Given the description of an element on the screen output the (x, y) to click on. 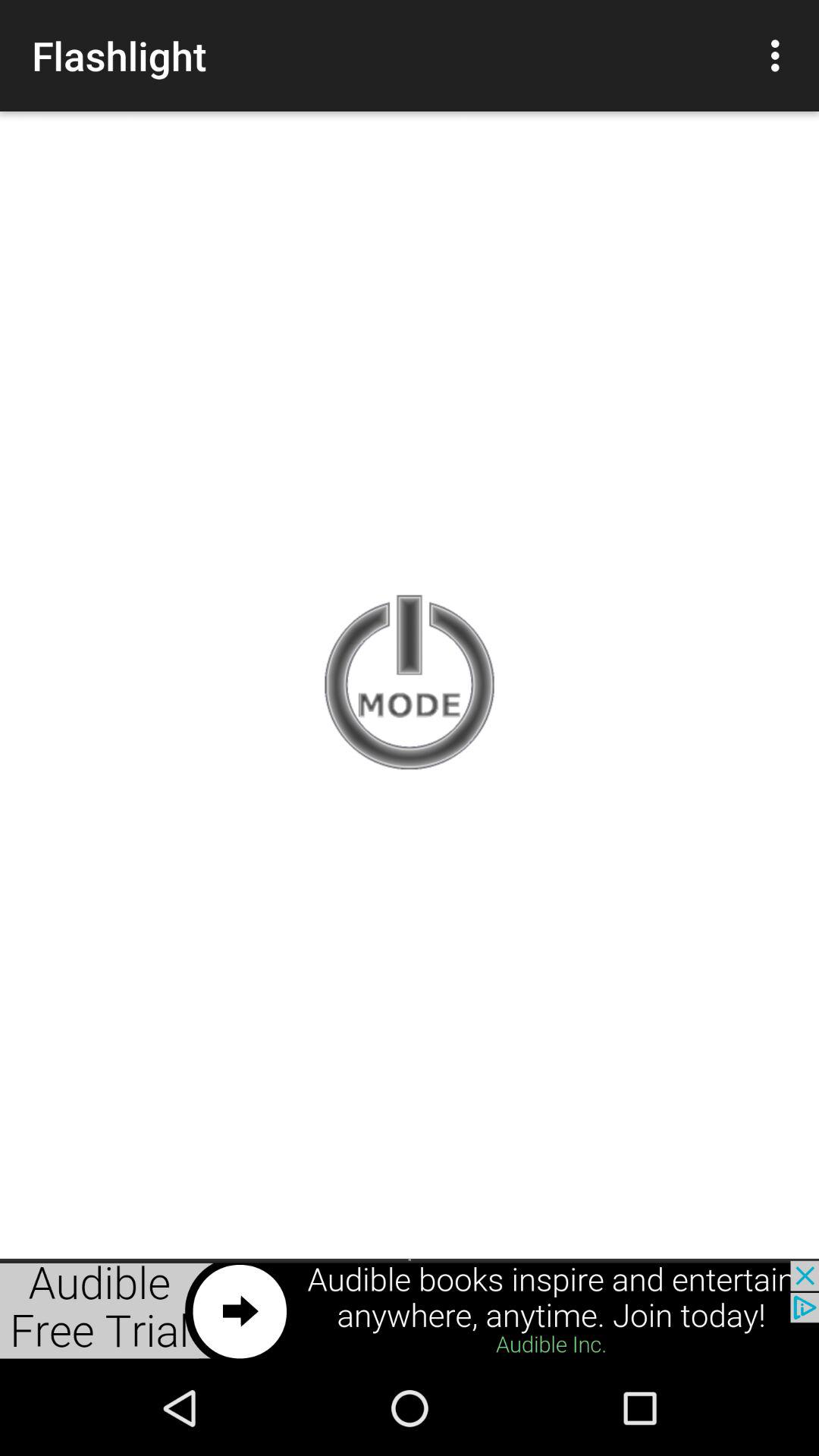
advertisement (409, 1310)
